Given the description of an element on the screen output the (x, y) to click on. 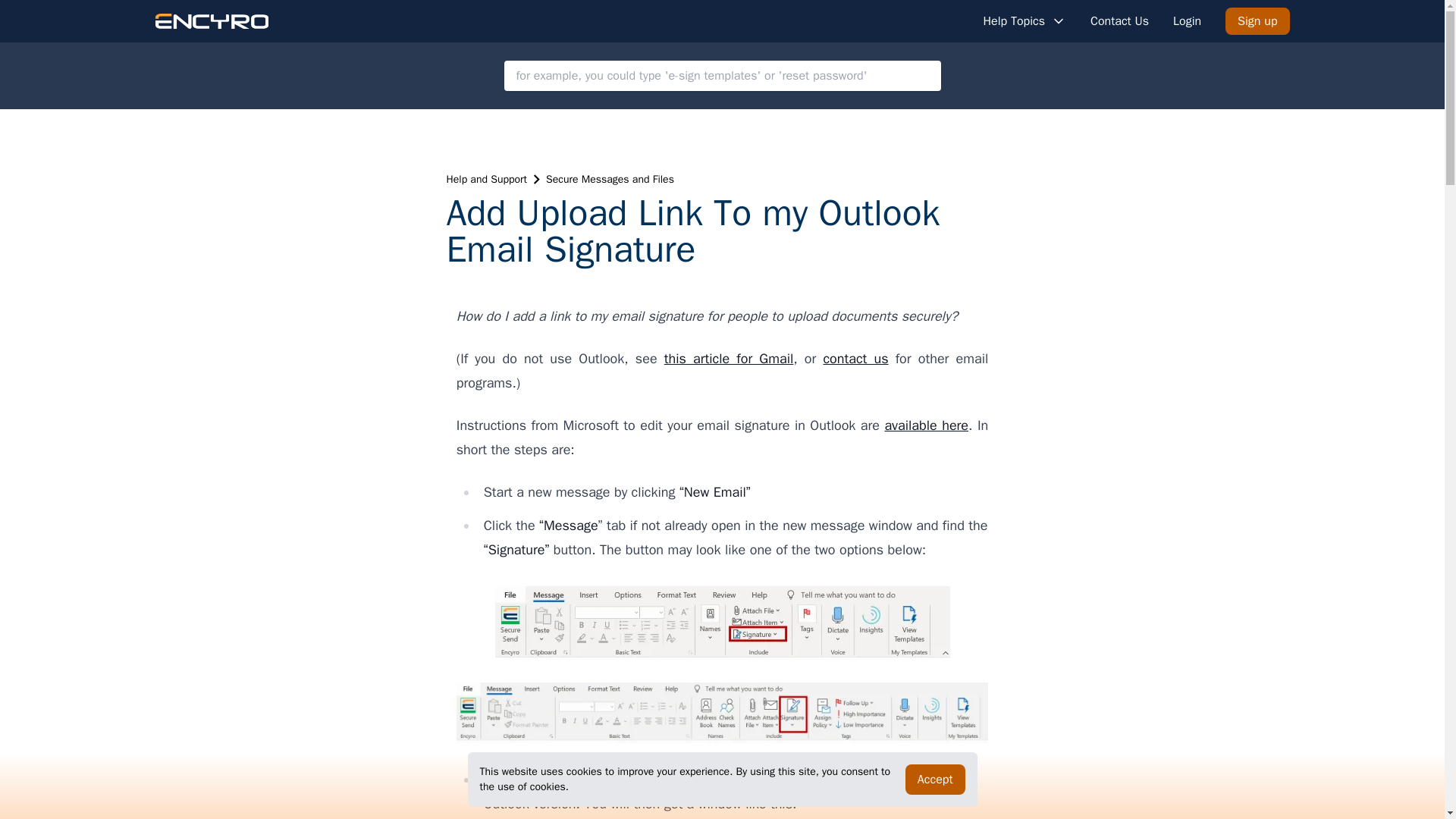
available here (925, 425)
this article for Gmail (728, 358)
Contact Us (1119, 20)
Help and Support (486, 178)
Secure Messages and Files (610, 178)
Accept (935, 779)
contact us (855, 358)
Sign up (1256, 21)
Login (1187, 20)
